Given the description of an element on the screen output the (x, y) to click on. 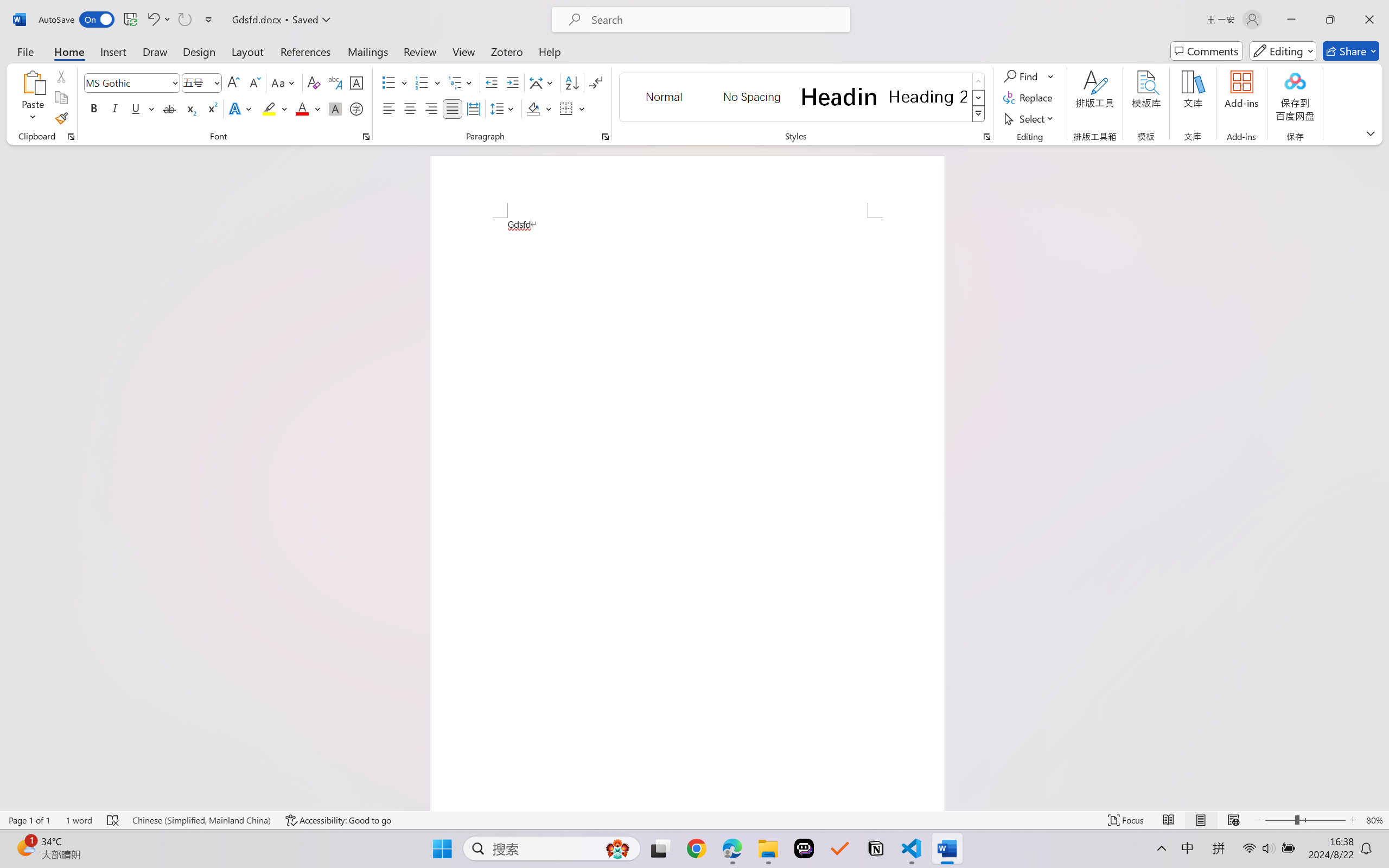
Font Color Red (302, 108)
Zoom 80% (1374, 819)
Spelling and Grammar Check Errors (113, 819)
Undo Font Formatting (158, 19)
